Given the description of an element on the screen output the (x, y) to click on. 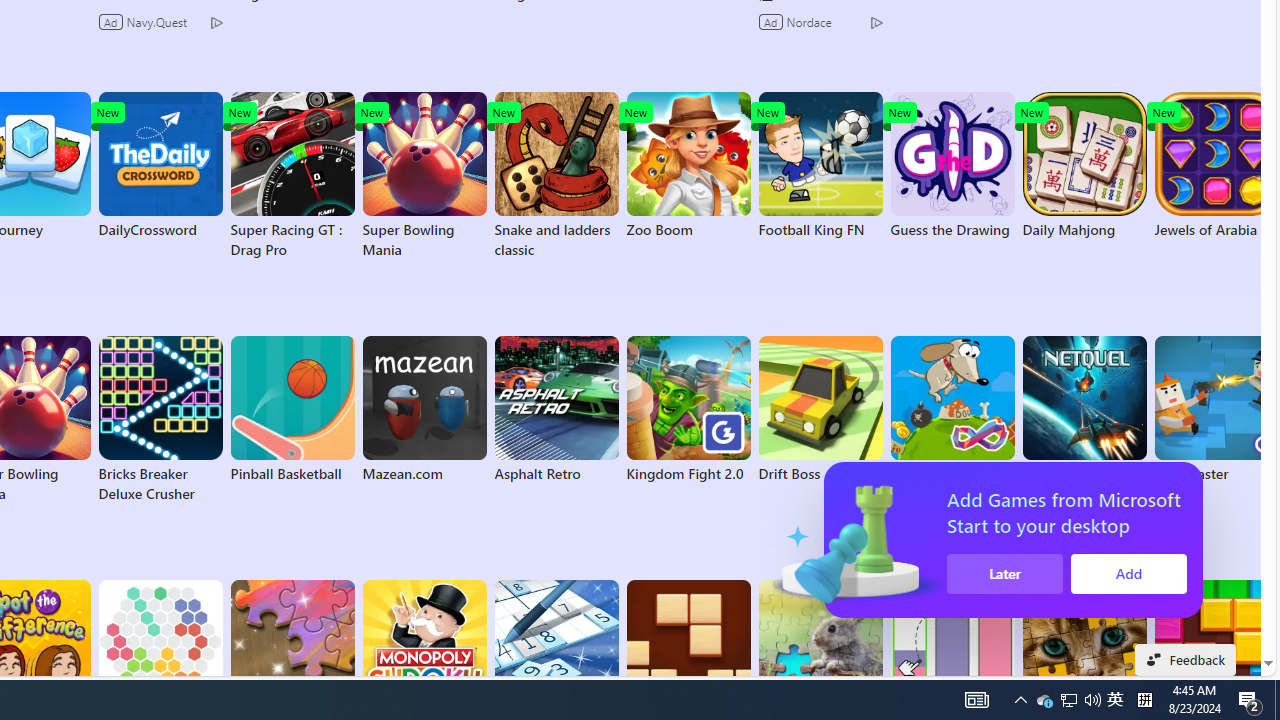
Pinball Basketball (292, 409)
Football King FN (820, 165)
Bricks Breaker Deluxe Crusher (160, 419)
Drift Boss (820, 409)
Hungry Dog FRVR (952, 409)
Class: pwa-upsell-icon (1093, 539)
Kingdom Fight 2.0 (688, 409)
Daily Mahjong (1083, 165)
DailyCrossword (160, 165)
Ad (772, 21)
Asphalt Retro (556, 409)
Gun Master (1216, 409)
Class: ad-choice  ad-choice-mono  (876, 21)
Super Racing GT : Drag Pro (292, 175)
Zoo Boom (688, 165)
